Given the description of an element on the screen output the (x, y) to click on. 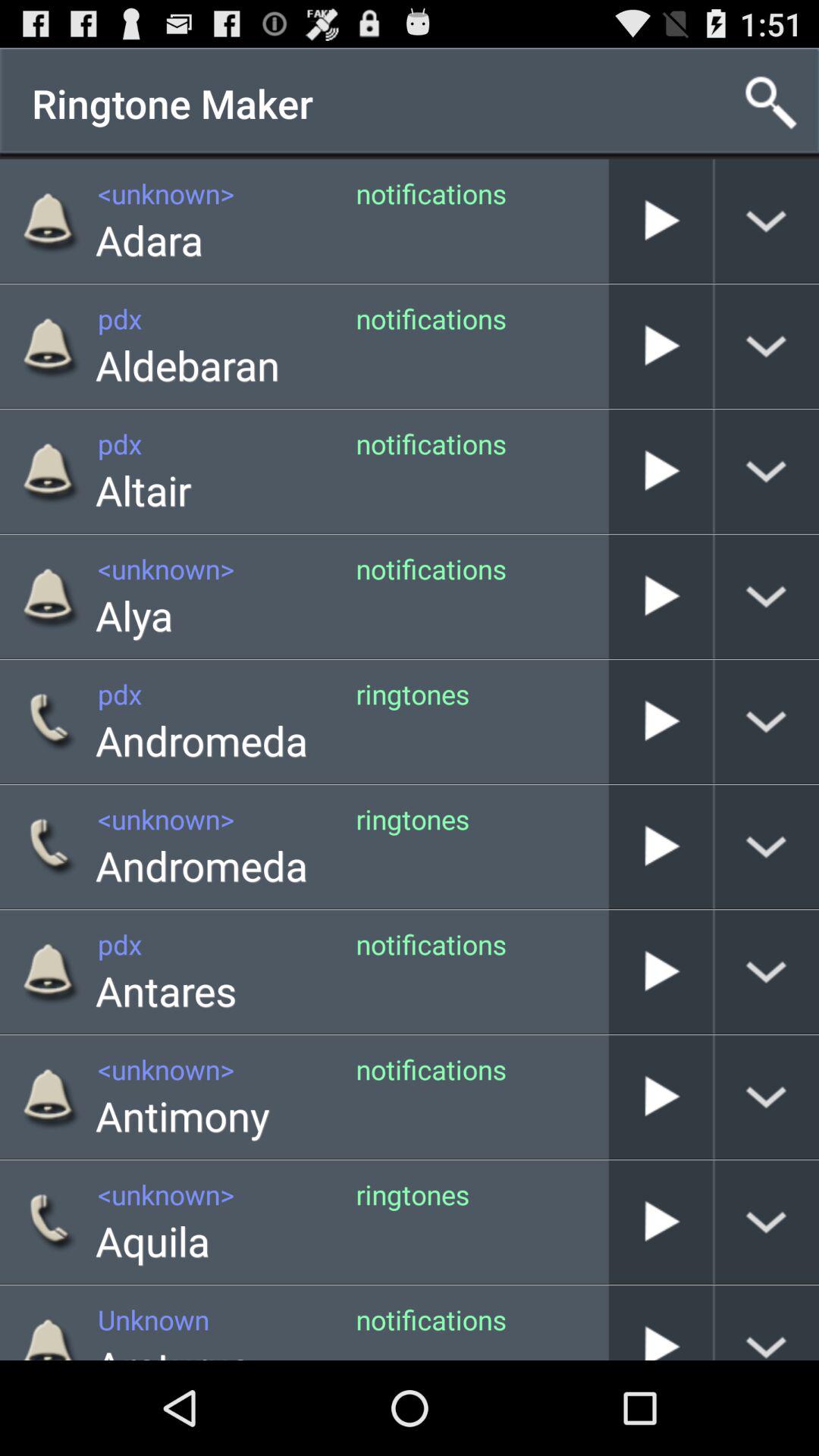
play in the archive (660, 471)
